Given the description of an element on the screen output the (x, y) to click on. 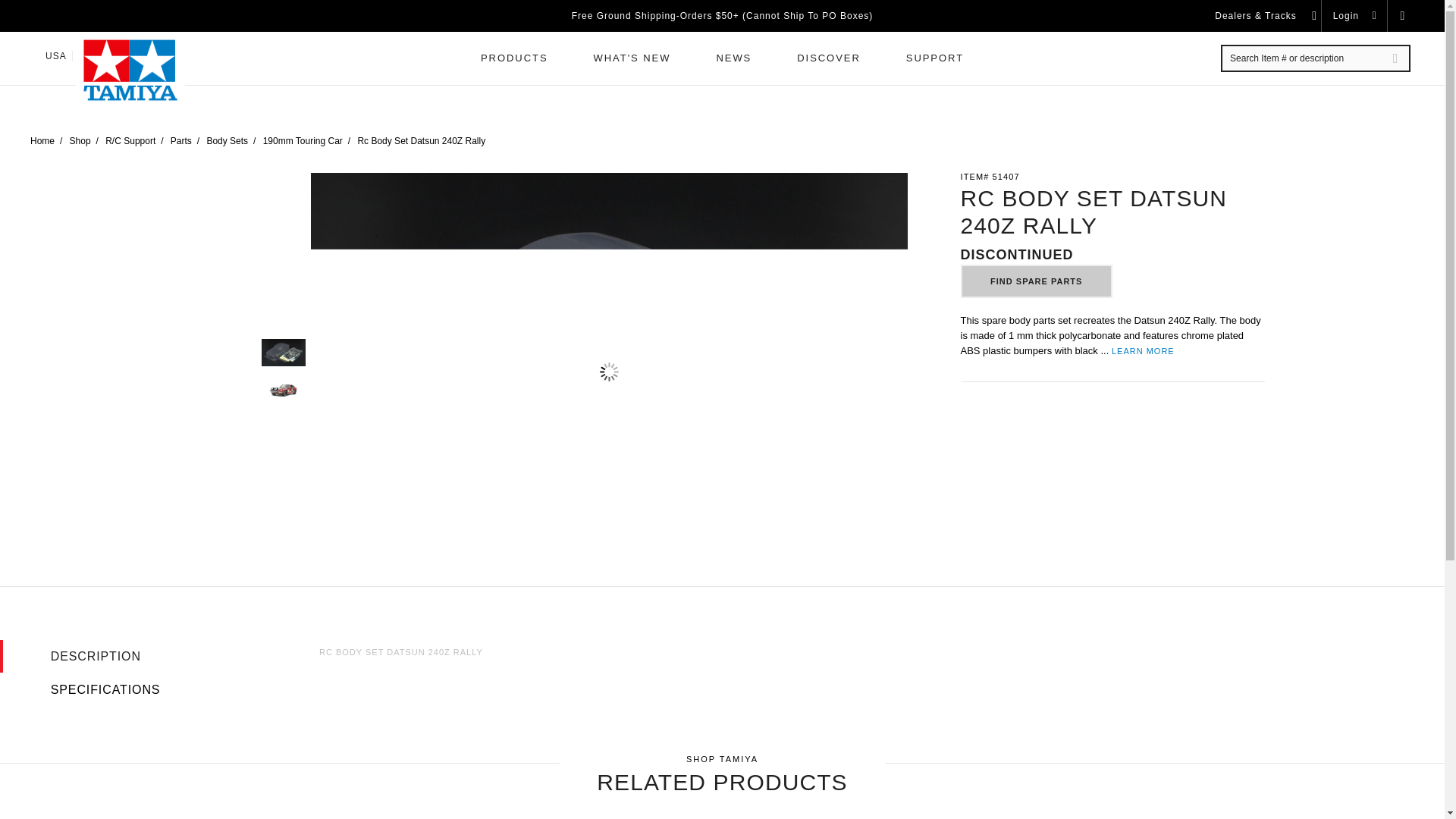
Tamiya USA (129, 69)
Search (1395, 58)
Login (1355, 15)
Rc Body Set Datsun 240Z Rally (282, 352)
Rc Body Set Datsun 240Z Rally (282, 390)
Login Account (1355, 15)
Tamiya USA (129, 69)
PRODUCTS (514, 58)
